Given the description of an element on the screen output the (x, y) to click on. 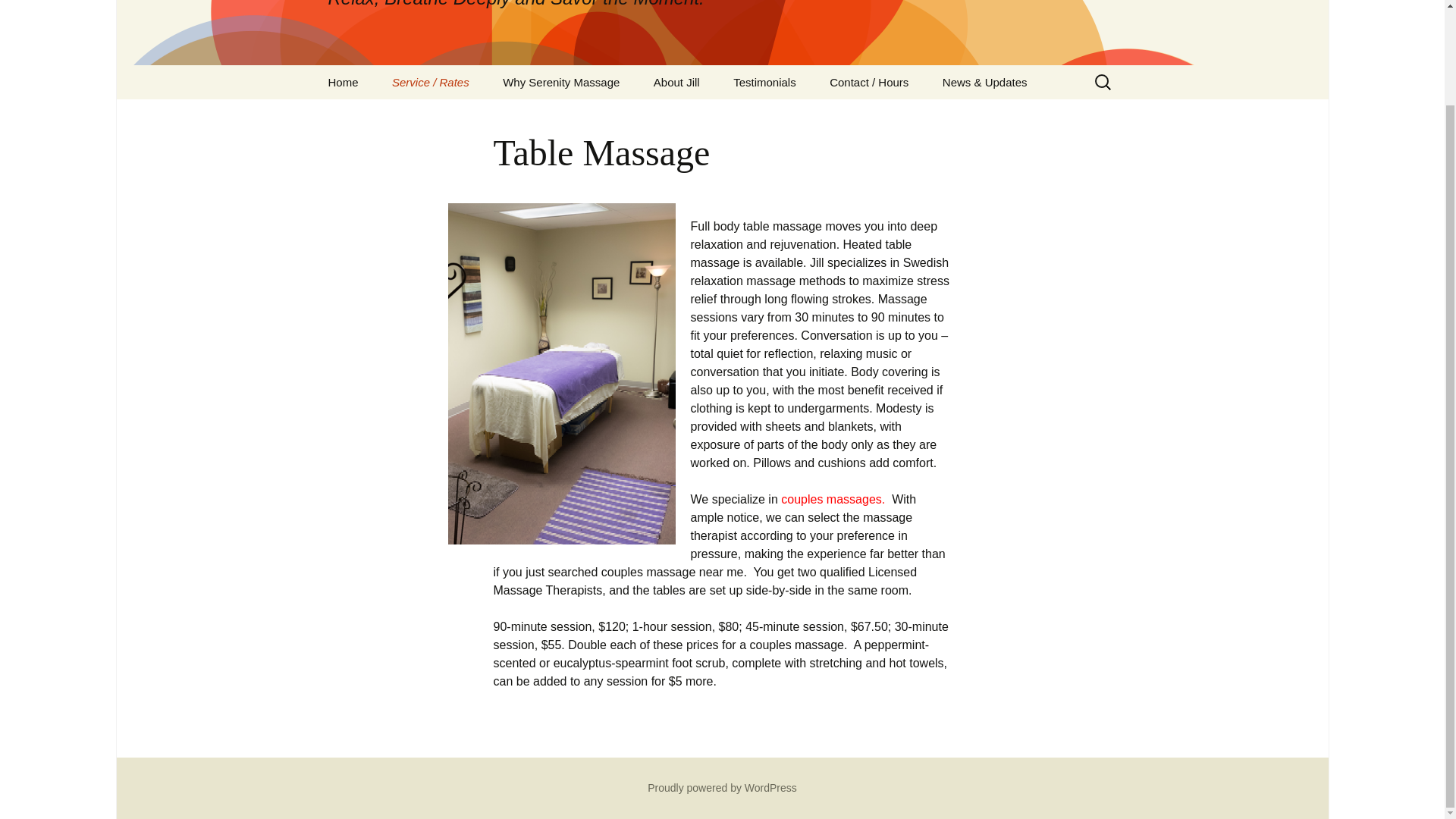
Proudly powered by WordPress (722, 32)
Testimonials (721, 787)
Skip to content (763, 82)
Why Serenity Massage (676, 82)
Table Massage (560, 82)
Home (452, 116)
